Given the description of an element on the screen output the (x, y) to click on. 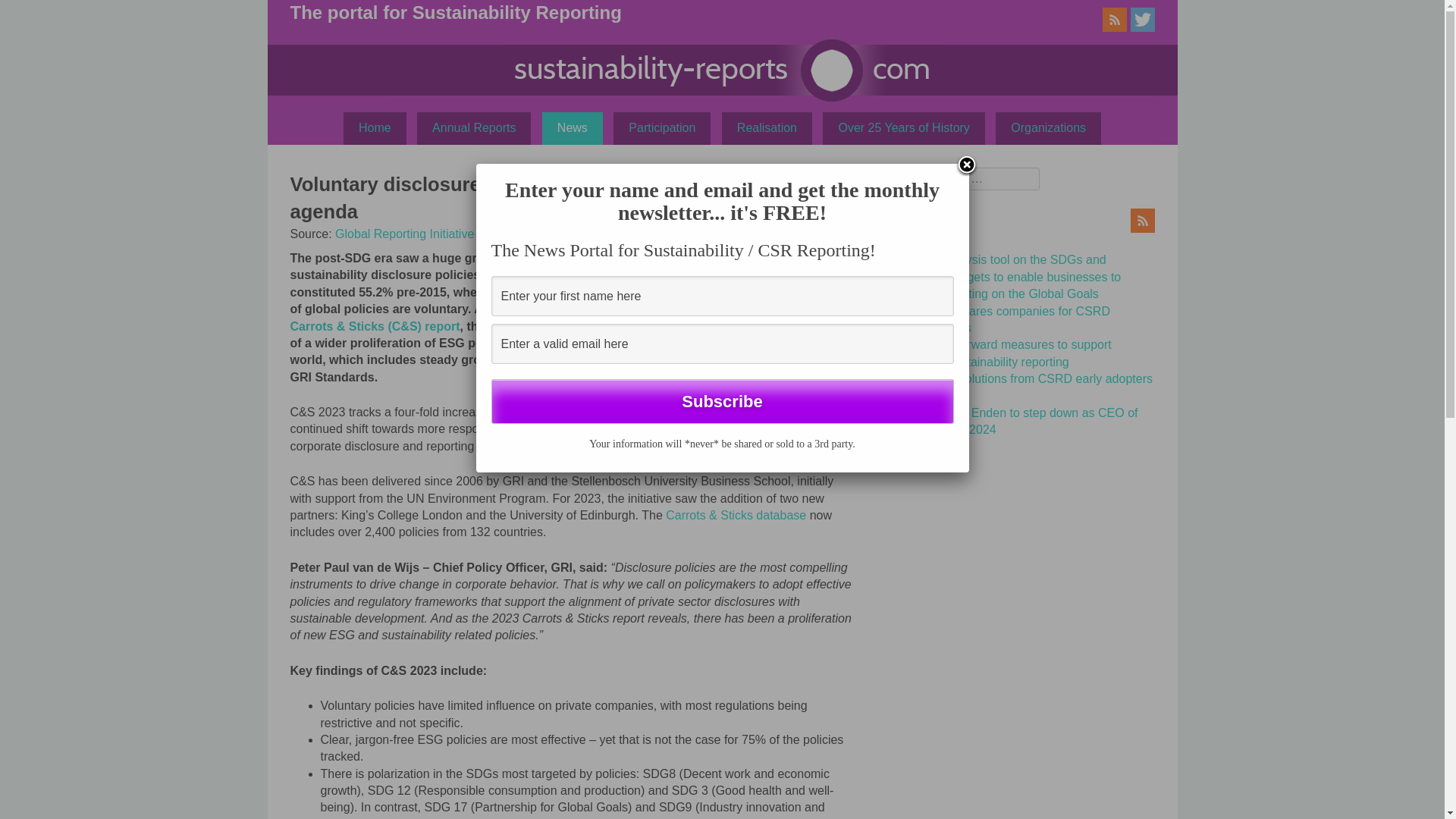
Twitter (1141, 27)
RSS feed Nieuws (1141, 228)
News (571, 128)
Participation (661, 128)
75 inspiring solutions from CSRD early adopters reports (1022, 387)
GRI best prepares companies for CSRD reporting rules (1001, 319)
Realisation (767, 128)
RSS feed Verslagen (1114, 27)
Subscribe (722, 401)
Search in news: (959, 178)
Annual Reports (473, 128)
Over 25 Years of History (903, 128)
